Given the description of an element on the screen output the (x, y) to click on. 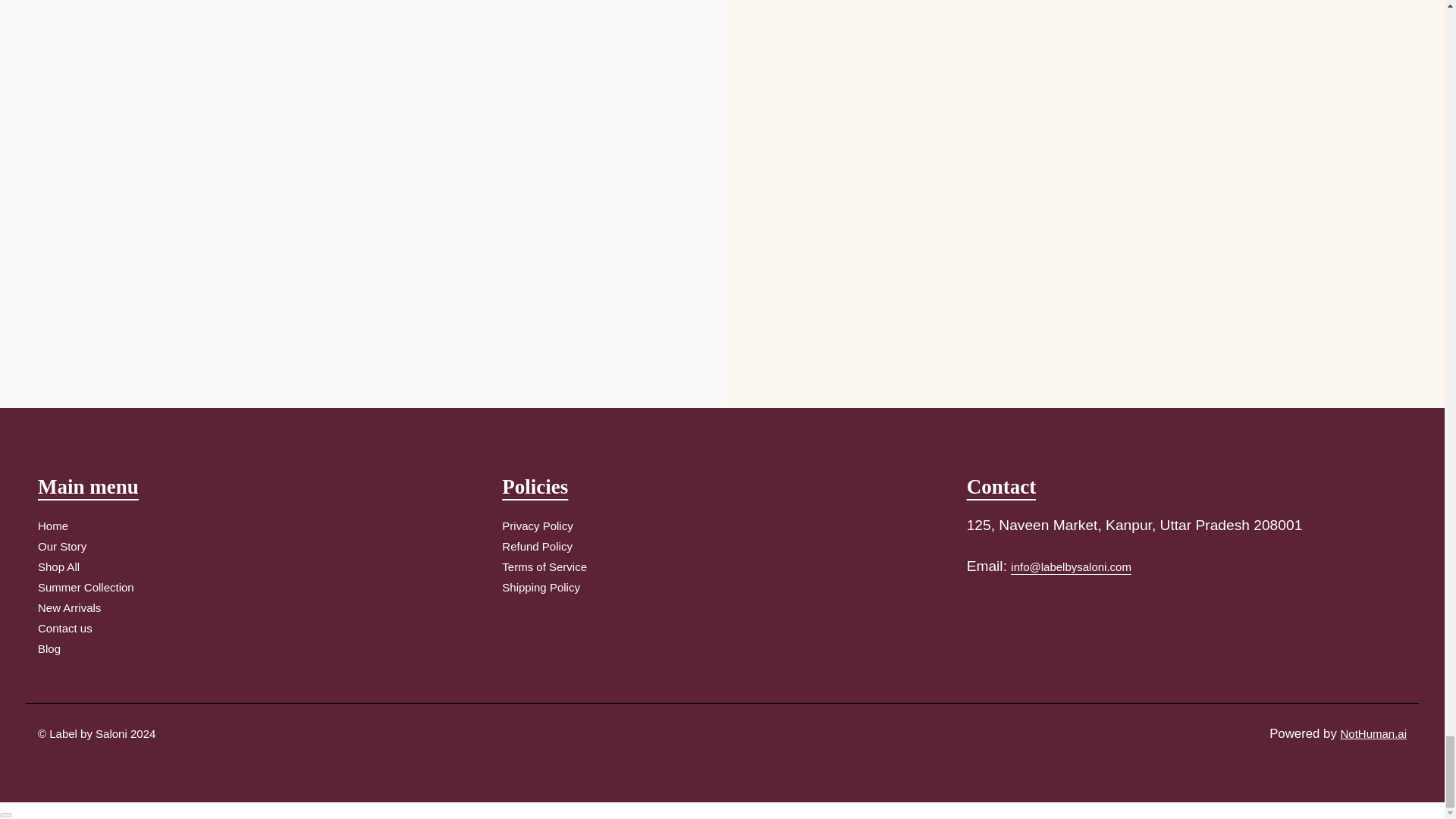
Email ID for Label by Saloni (1070, 568)
